Given the description of an element on the screen output the (x, y) to click on. 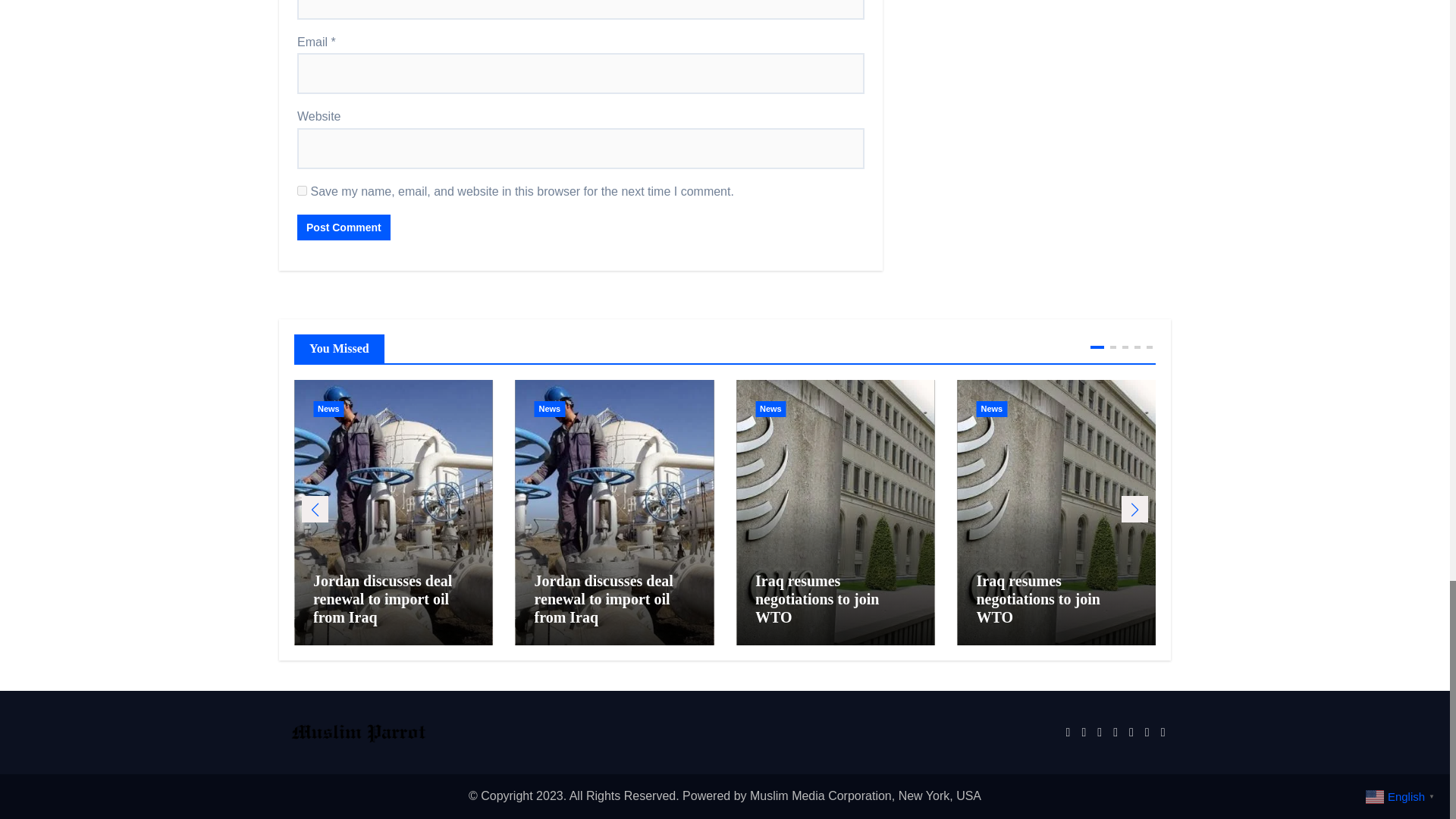
yes (302, 190)
Post Comment (343, 227)
